Given the description of an element on the screen output the (x, y) to click on. 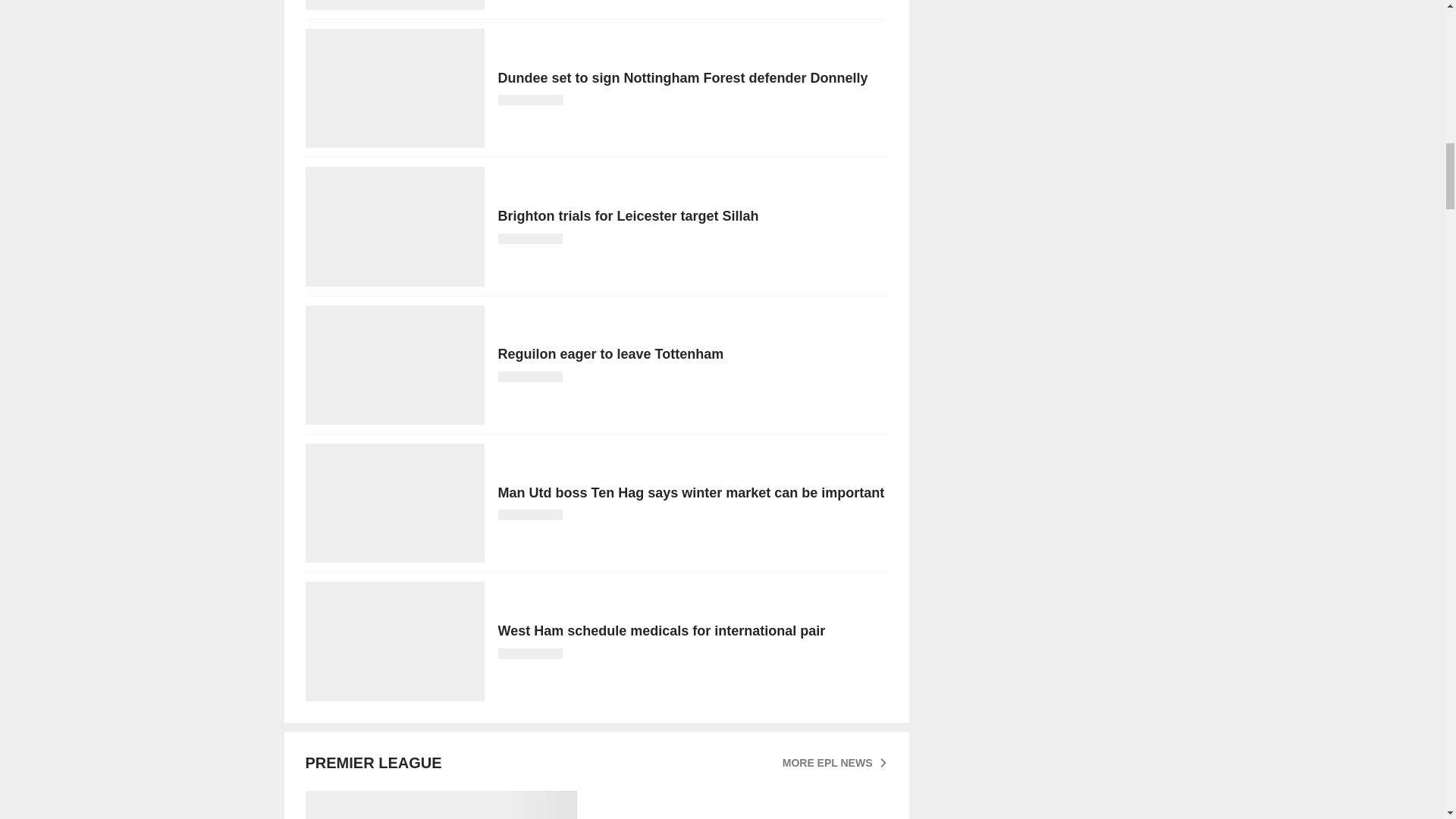
Brighton trials for Leicester target Sillah (595, 226)
Dundee set to sign Nottingham Forest defender Donnelly (595, 88)
Man Utd pushing to make triple signing raid this week (595, 805)
MAN UTD PUSHING TO MAKE TRIPLE SIGNING RAID THIS WEEK (595, 805)
West Ham schedule medicals for international pair (595, 641)
Reguilon eager to leave Tottenham (595, 365)
Man Utd boss Ten Hag says winter market can be important (595, 502)
Man Utd boss Ten Hag says winter market can be important (595, 502)
Brighton trials for Leicester target Sillah (595, 226)
West Ham schedule medicals for international pair (595, 641)
Reguilon eager to leave Tottenham (595, 365)
Dundee set to sign Nottingham Forest defender Donnelly (595, 88)
West Ham try again for Nice defender Todibo (595, 4)
MORE EPL NEWS (835, 762)
West Ham try again for Nice defender Todibo (595, 4)
